Given the description of an element on the screen output the (x, y) to click on. 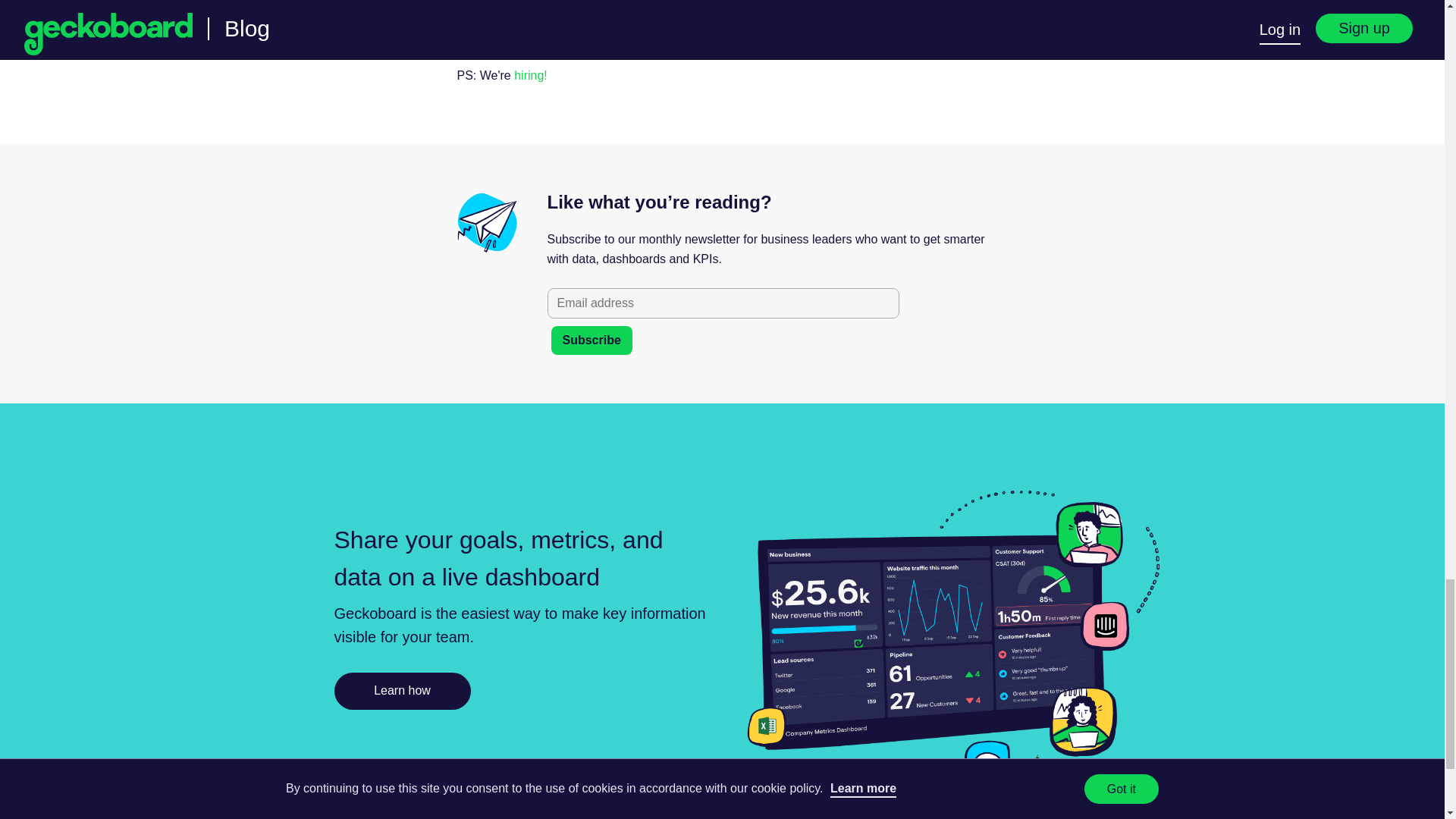
Learn how (401, 691)
Subscribe (590, 339)
hiring! (530, 74)
